Given the description of an element on the screen output the (x, y) to click on. 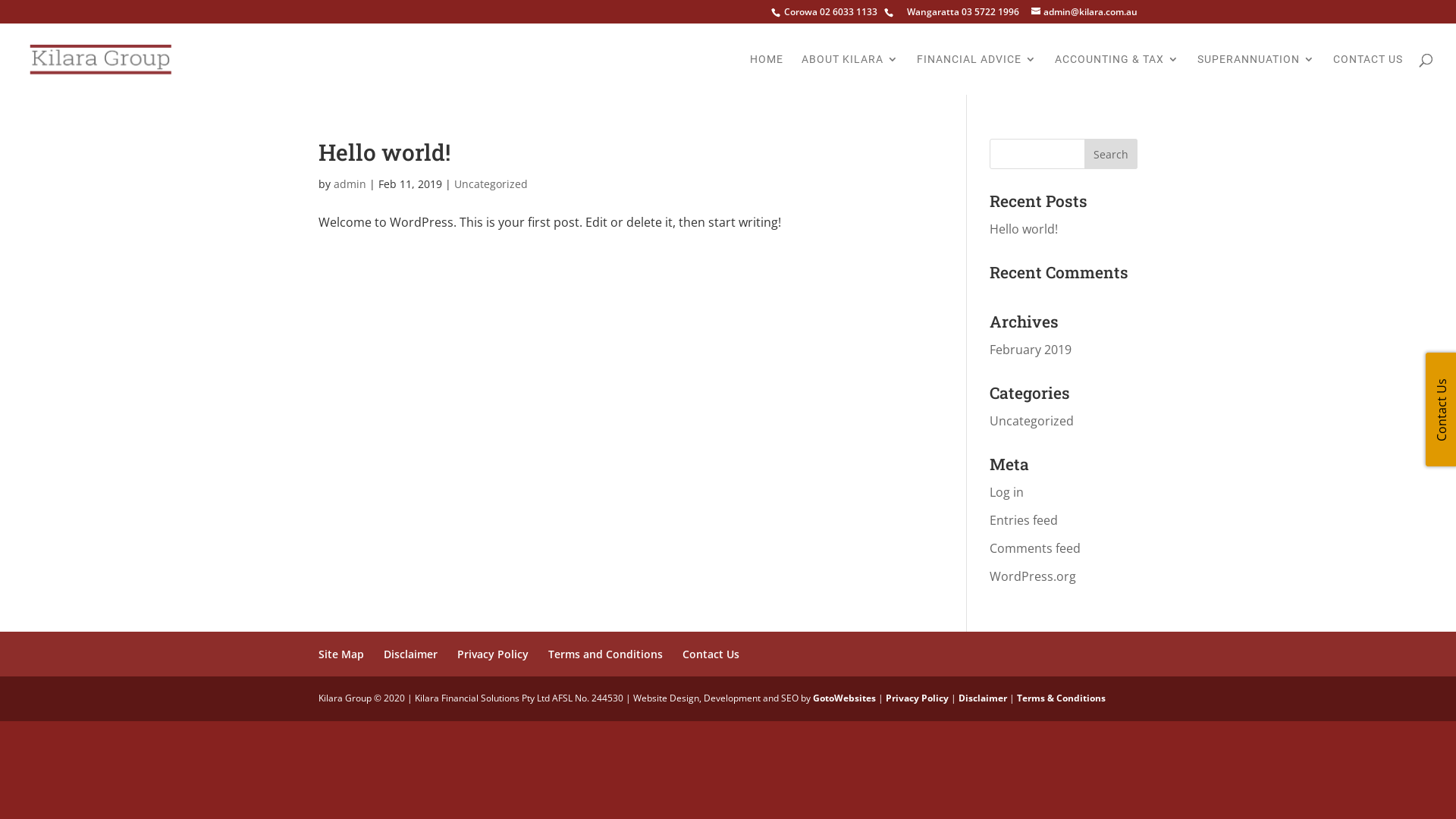
February 2019 Element type: text (1030, 349)
Uncategorized Element type: text (490, 183)
Log in Element type: text (1006, 491)
Privacy Policy Element type: text (492, 653)
Corowa 02 6033 1133 Element type: text (829, 11)
Search Element type: text (1110, 153)
Entries feed Element type: text (1023, 519)
Uncategorized Element type: text (1031, 420)
SUPERANNUATION Element type: text (1255, 73)
ACCOUNTING & TAX Element type: text (1116, 73)
WordPress.org Element type: text (1032, 575)
GotoWebsites Element type: text (843, 697)
HOME Element type: text (766, 73)
admin@kilara.com.au Element type: text (1084, 11)
Comments feed Element type: text (1034, 547)
CONTACT US Element type: text (1367, 73)
Site Map Element type: text (341, 653)
admin Element type: text (349, 183)
  Wangaratta 03 5722 1996 Element type: text (949, 11)
Disclaimer Element type: text (982, 697)
Privacy Policy Element type: text (916, 697)
Hello world! Element type: text (1023, 228)
Disclaimer Element type: text (410, 653)
ABOUT KILARA Element type: text (849, 73)
FINANCIAL ADVICE Element type: text (976, 73)
Hello world! Element type: text (384, 151)
Terms & Conditions Element type: text (1060, 697)
Terms and Conditions Element type: text (605, 653)
Contact Us Element type: text (710, 653)
